Given the description of an element on the screen output the (x, y) to click on. 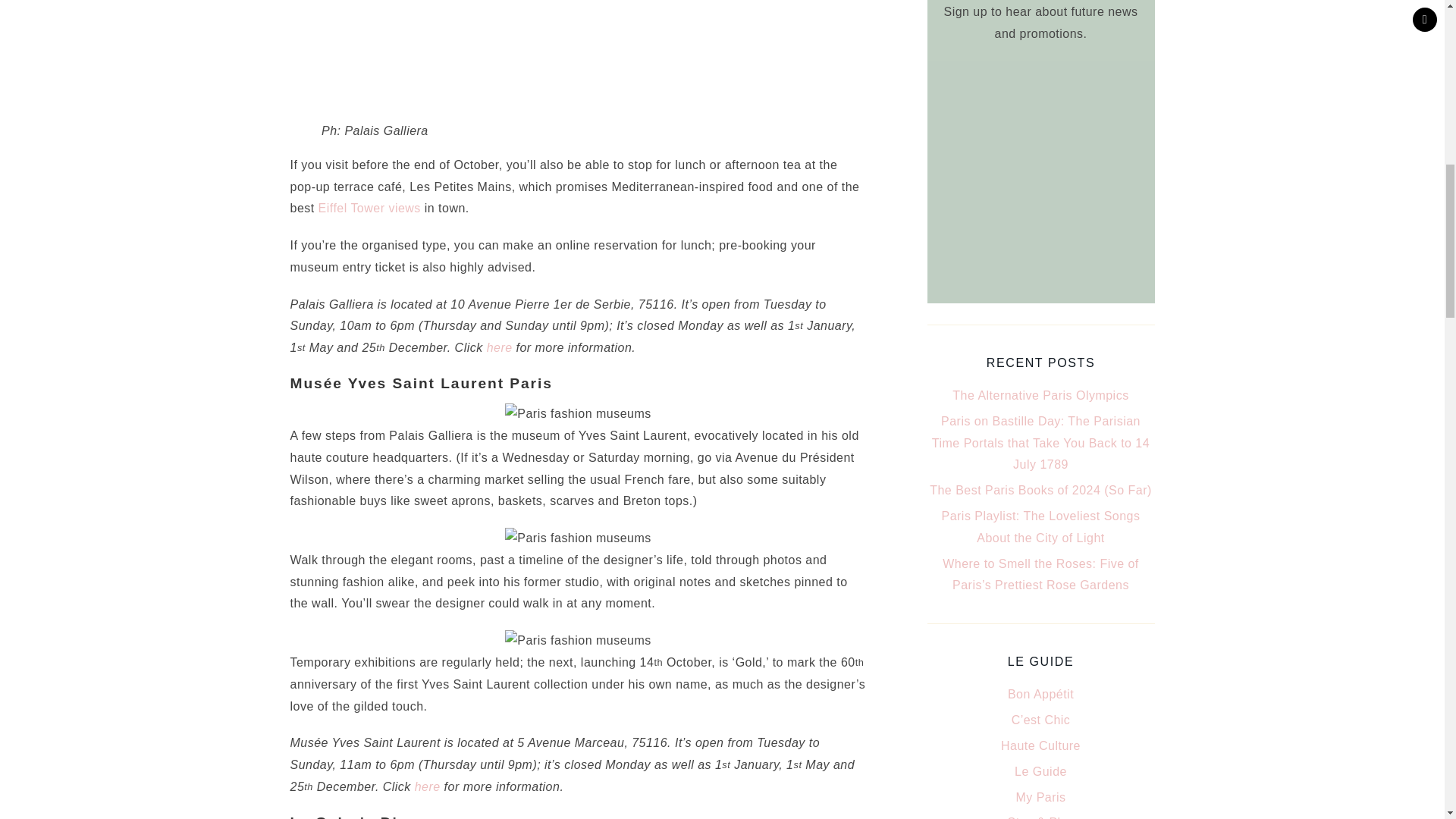
here (427, 786)
here (499, 347)
Eiffel Tower views (369, 207)
